Given the description of an element on the screen output the (x, y) to click on. 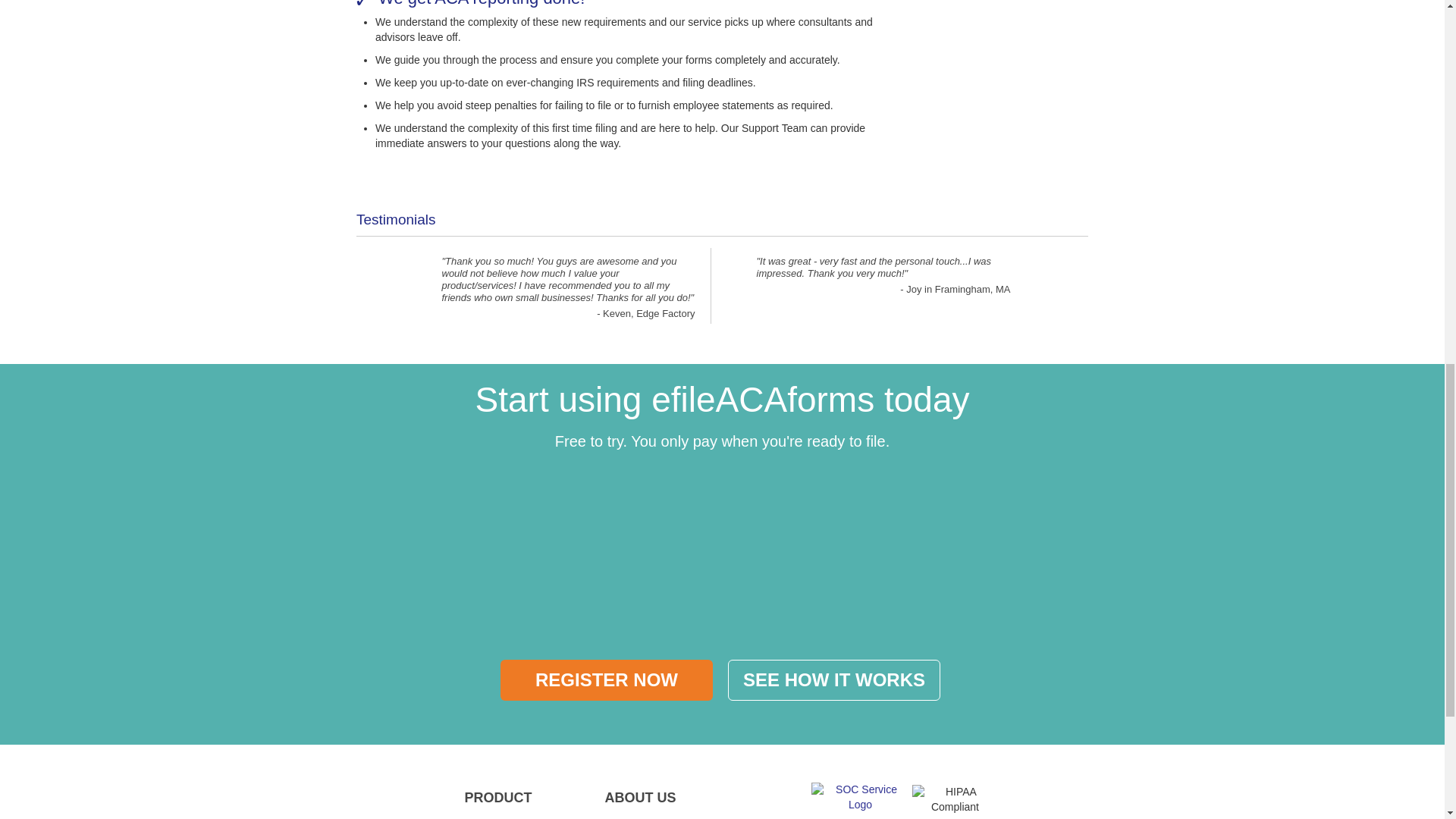
SEE HOW IT WORKS (834, 680)
REGISTER NOW (606, 680)
